Given the description of an element on the screen output the (x, y) to click on. 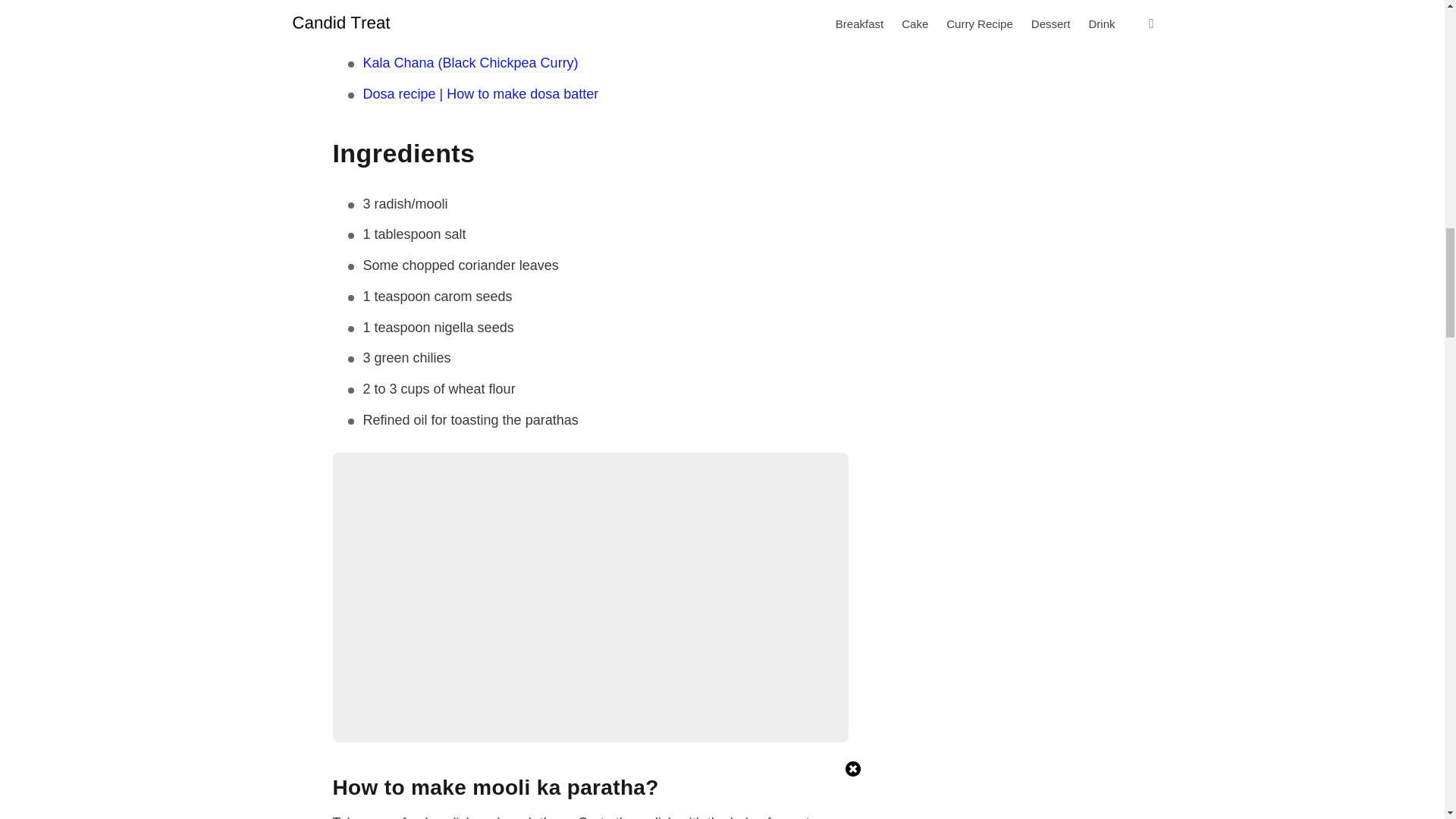
Advertisement (1046, 135)
